Given the description of an element on the screen output the (x, y) to click on. 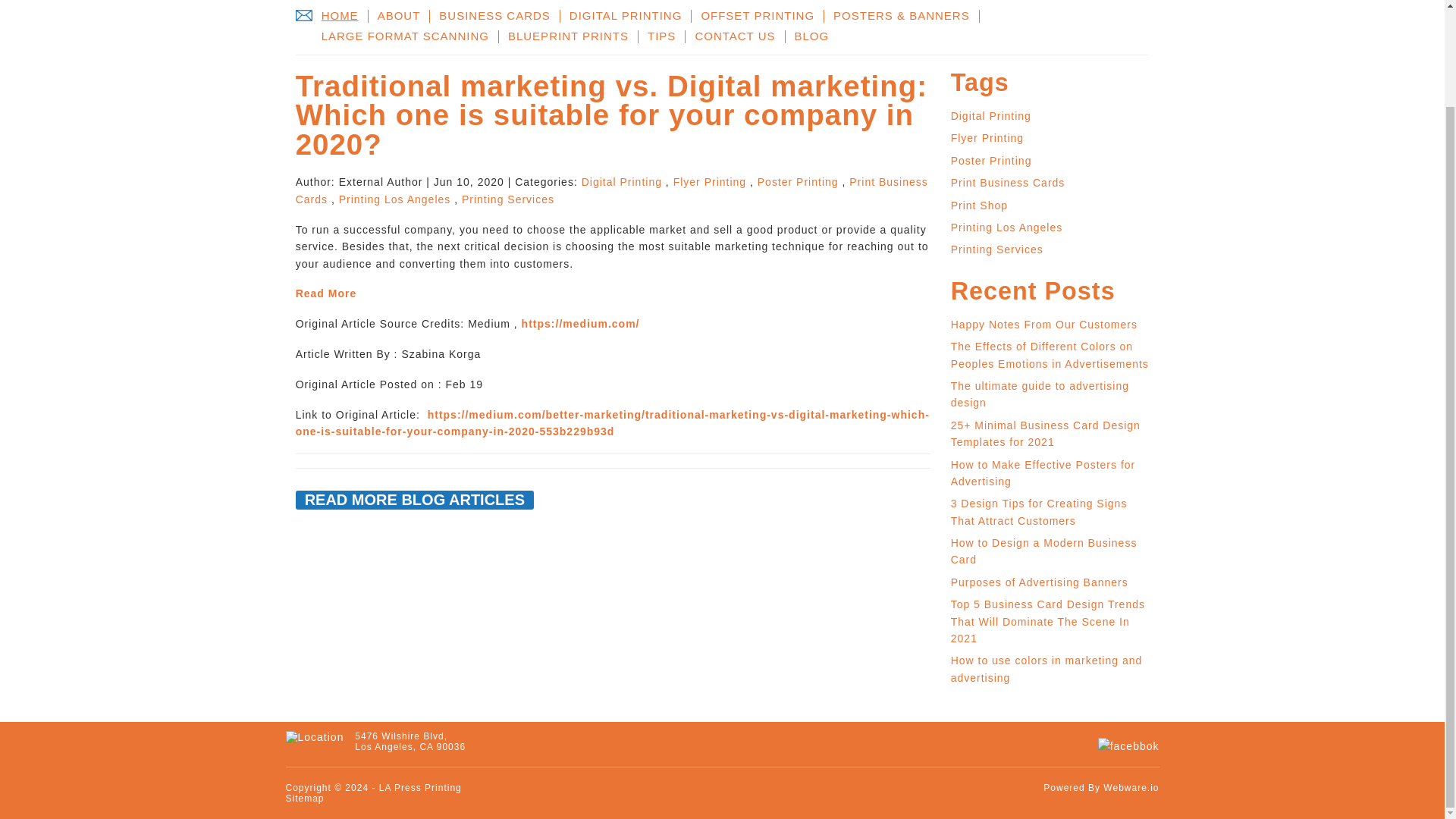
CONTACT US (734, 36)
BLOG (812, 36)
Poster Printing (991, 160)
BLUEPRINT PRINTS (569, 36)
HOME (340, 15)
Print Business Cards (611, 190)
TIPS (662, 36)
READ MORE BLOG ARTICLES (414, 499)
Printing Services (507, 199)
Poster Printing (797, 182)
Printing Los Angeles (395, 199)
ABOUT (399, 15)
DIGITAL PRINTING (626, 15)
Digital Printing (990, 115)
Read More (325, 293)
